Given the description of an element on the screen output the (x, y) to click on. 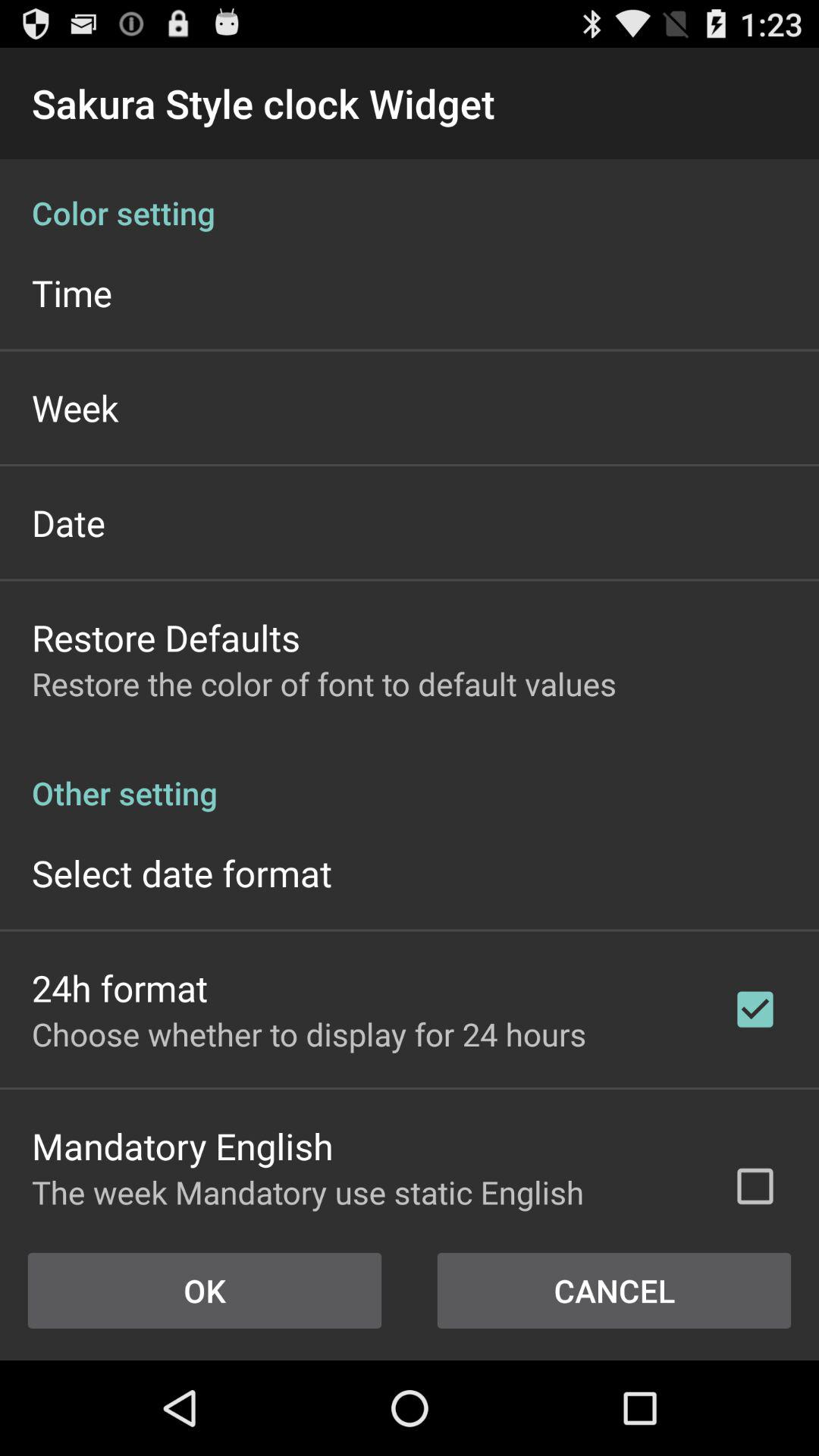
open the app below the 24h format (308, 1033)
